Given the description of an element on the screen output the (x, y) to click on. 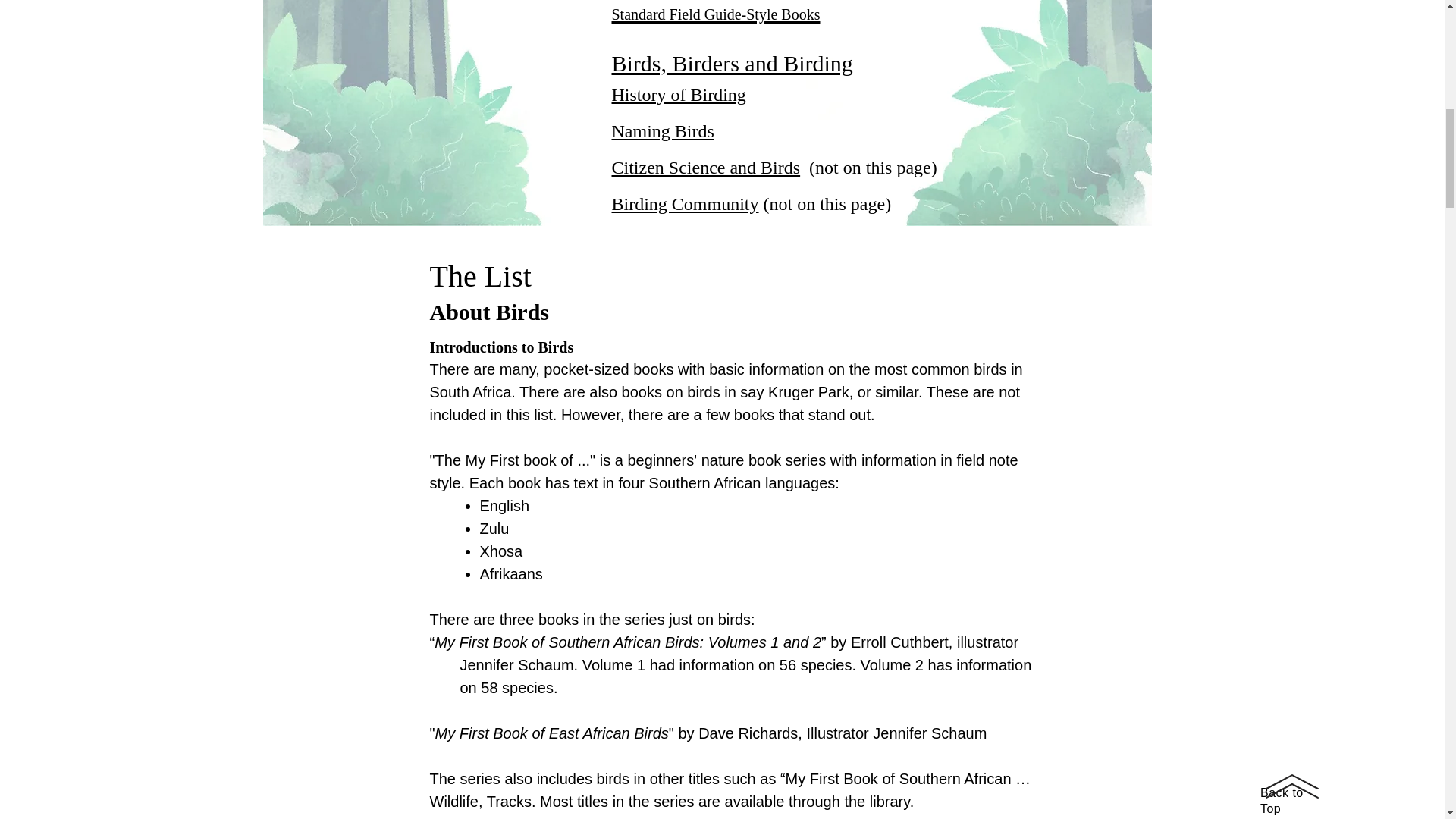
Birding Community (684, 203)
Birds, Birders and Birding (731, 63)
Standard Field Guide-Style Books (715, 12)
Citizen Science and Birds (705, 167)
History of Birding (678, 94)
Naming Birds (662, 130)
